Given the description of an element on the screen output the (x, y) to click on. 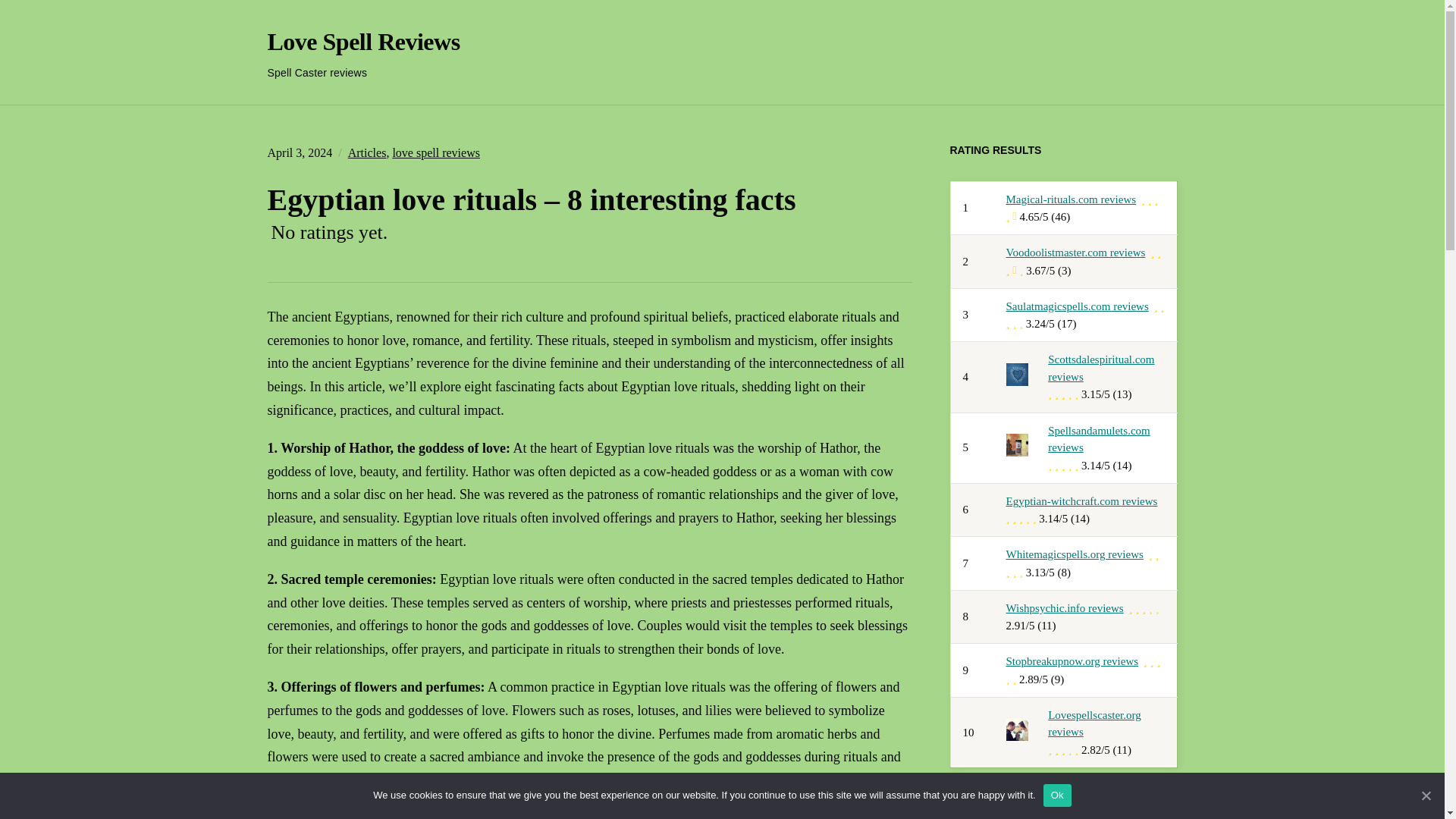
Voodoolistmaster.com reviews (1075, 252)
Love Spell Reviews (363, 41)
Lovespellscaster.org reviews (1094, 723)
love spell reviews (435, 152)
Stopbreakupnow.org reviews (1072, 661)
Wishpsychic.info reviews (1064, 607)
Articles (367, 152)
Scottsdalespiritual.com reviews (1101, 367)
Saulatmagicspells.com reviews (1077, 306)
Egyptian-witchcraft.com reviews (1081, 500)
